Given the description of an element on the screen output the (x, y) to click on. 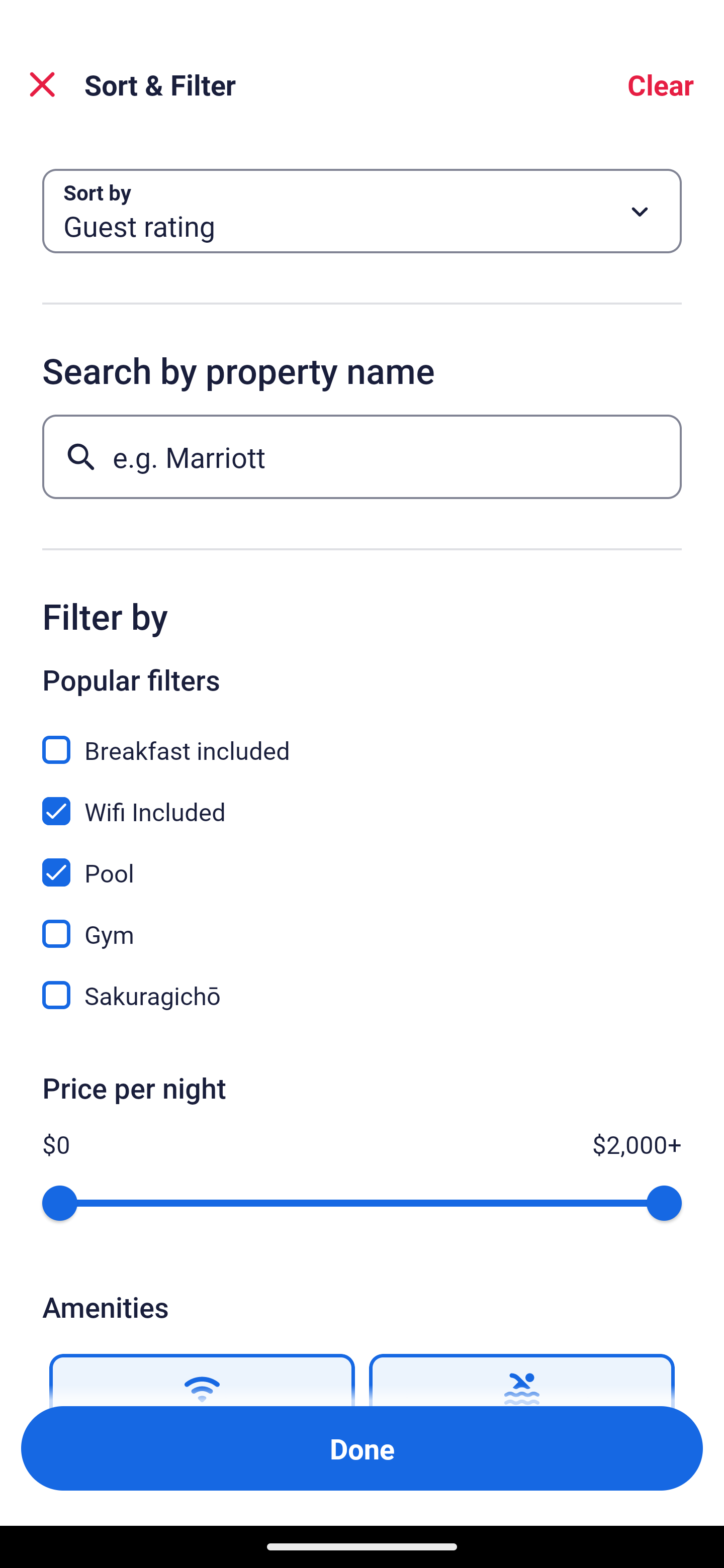
Close Sort and Filter (42, 84)
Clear (660, 84)
Sort by Button Guest rating (361, 211)
e.g. Marriott Button (361, 455)
Breakfast included, Breakfast included (361, 738)
Wifi Included, Wifi Included (361, 800)
Pool, Pool (361, 861)
Gym, Gym (361, 922)
Sakuragichō, Sakuragichō (361, 995)
Apply and close Sort and Filter Done (361, 1448)
